Given the description of an element on the screen output the (x, y) to click on. 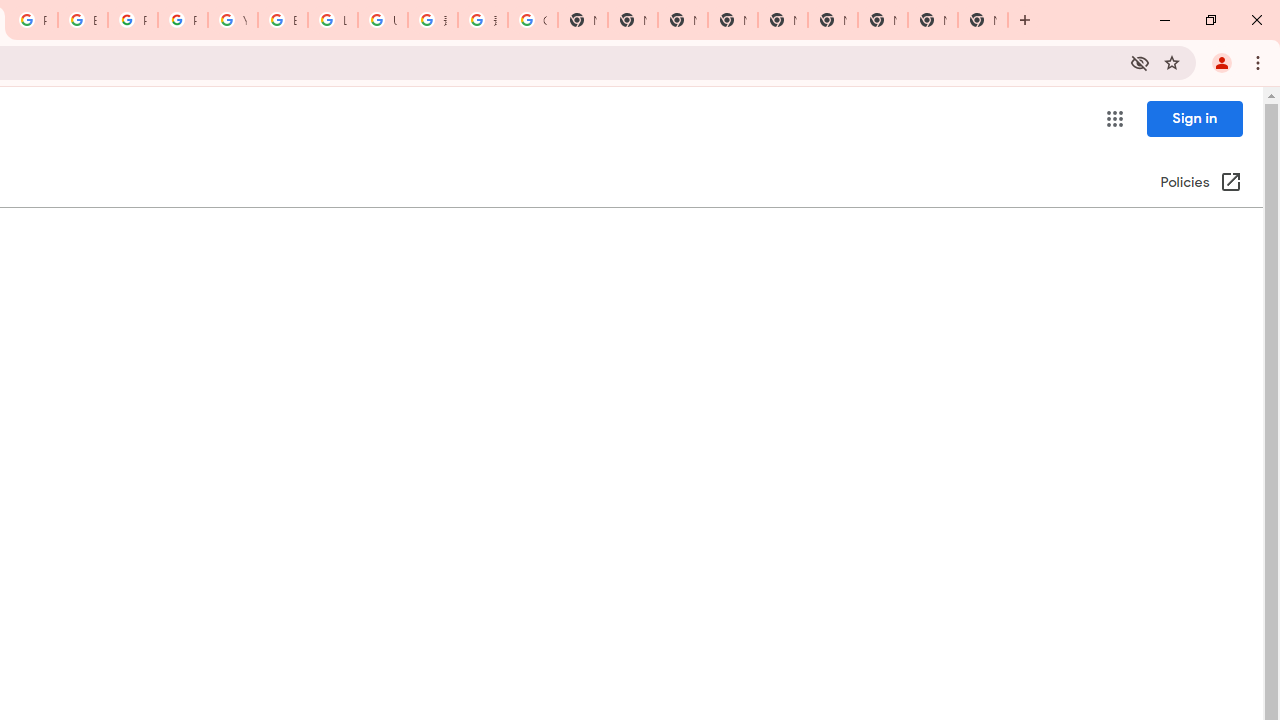
New Tab (882, 20)
